Given the description of an element on the screen output the (x, y) to click on. 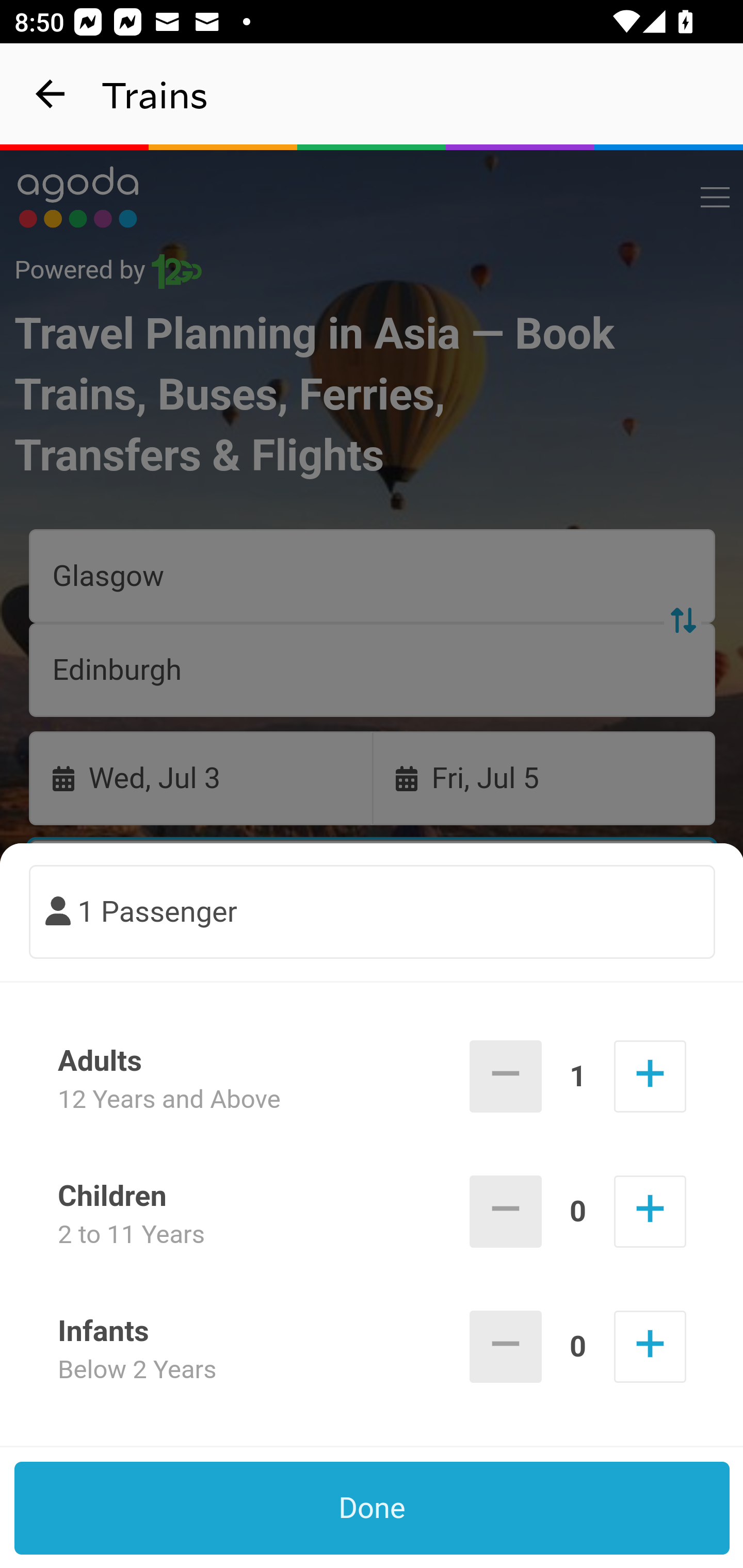
Find Tickets (372, 992)
Done (372, 1508)
